Given the description of an element on the screen output the (x, y) to click on. 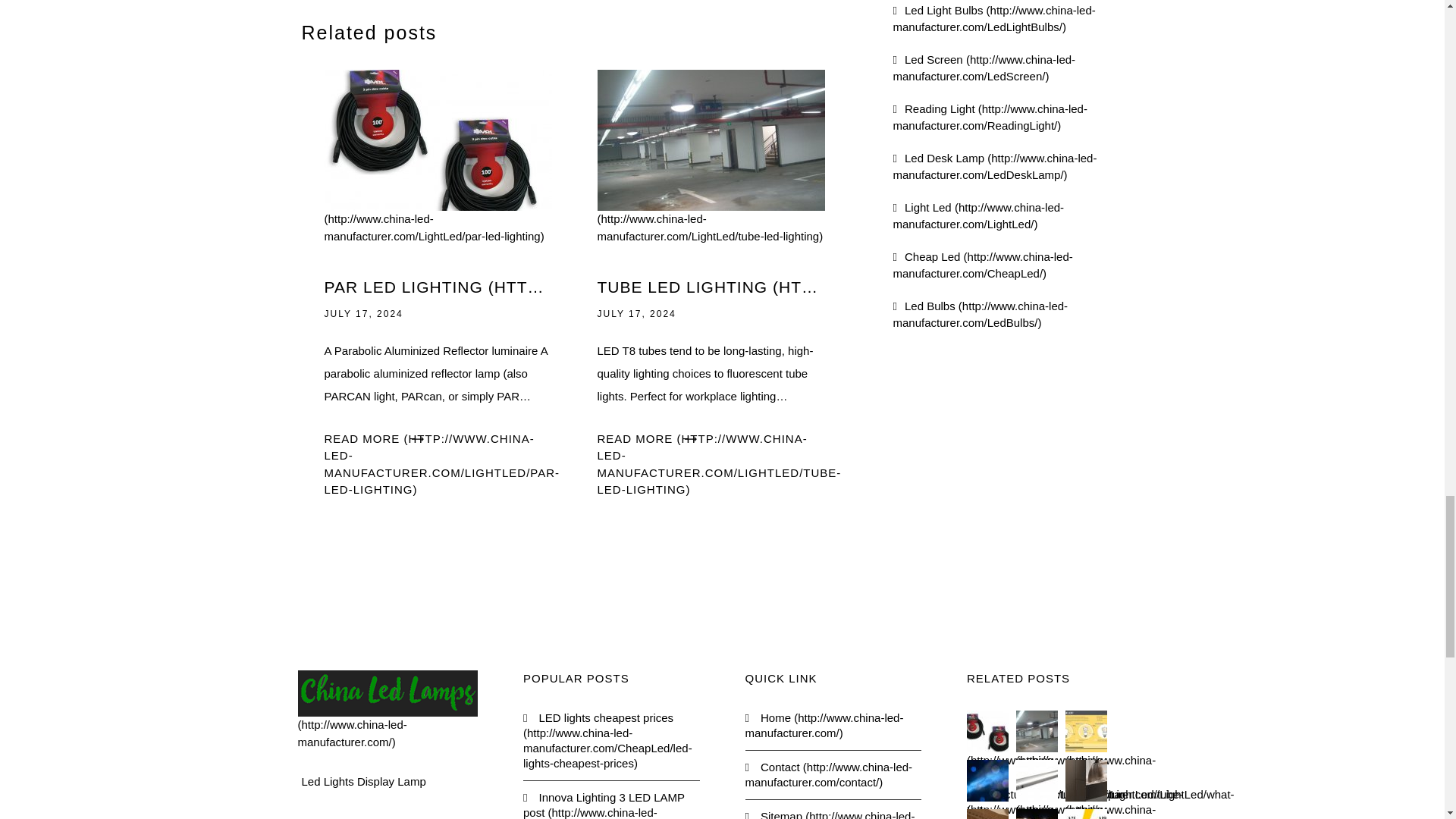
READ MORE (442, 464)
PAR LED Lighting (437, 187)
Tube LED Lighting (710, 187)
PAR LED LIGHTING (437, 287)
View all posts filed under Led Screen (984, 68)
View all posts filed under Led Light Bulbs (994, 18)
TUBE LED LIGHTING (710, 287)
READ MORE (718, 464)
